Given the description of an element on the screen output the (x, y) to click on. 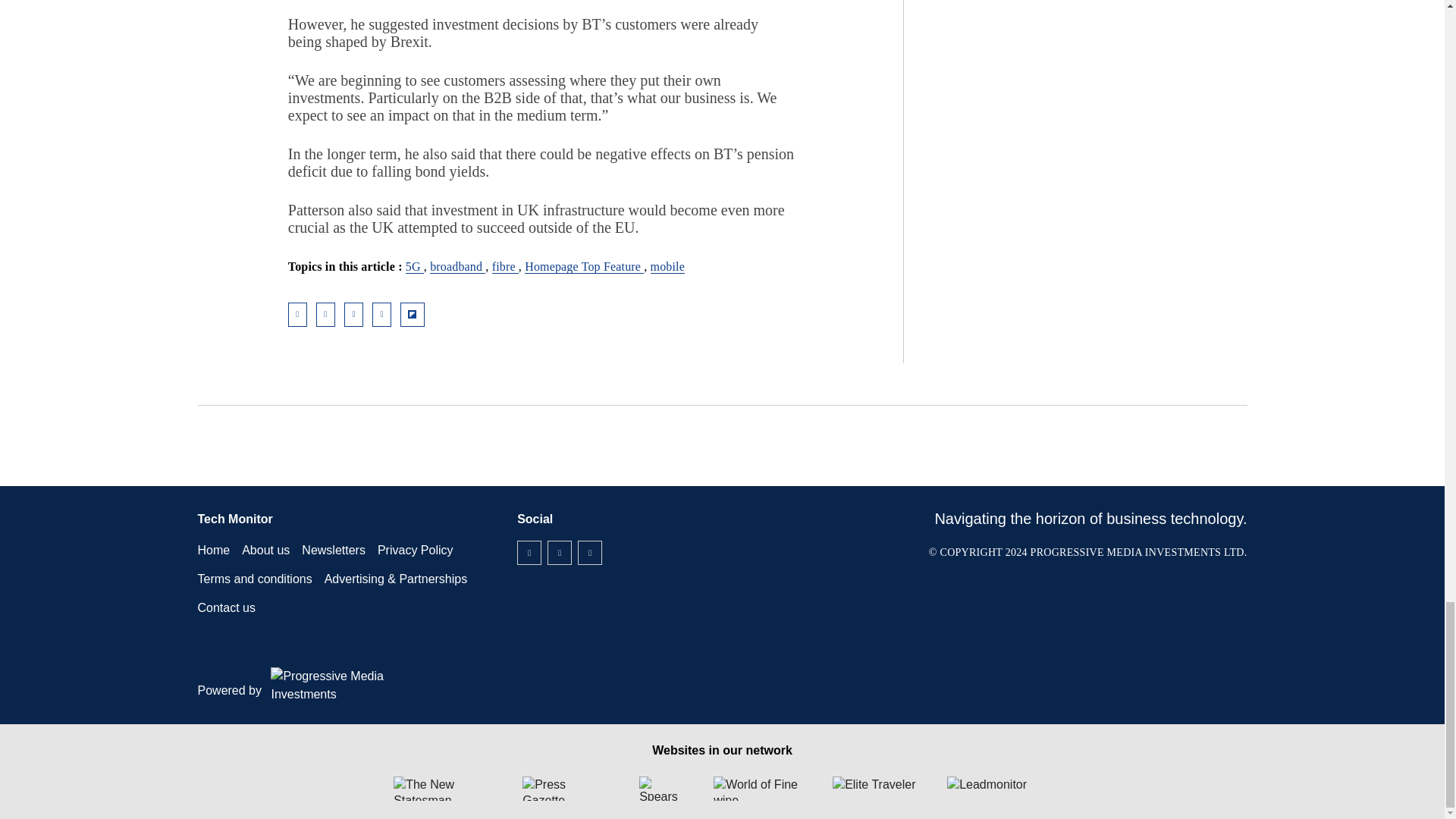
Share on Flipboard (412, 314)
